Given the description of an element on the screen output the (x, y) to click on. 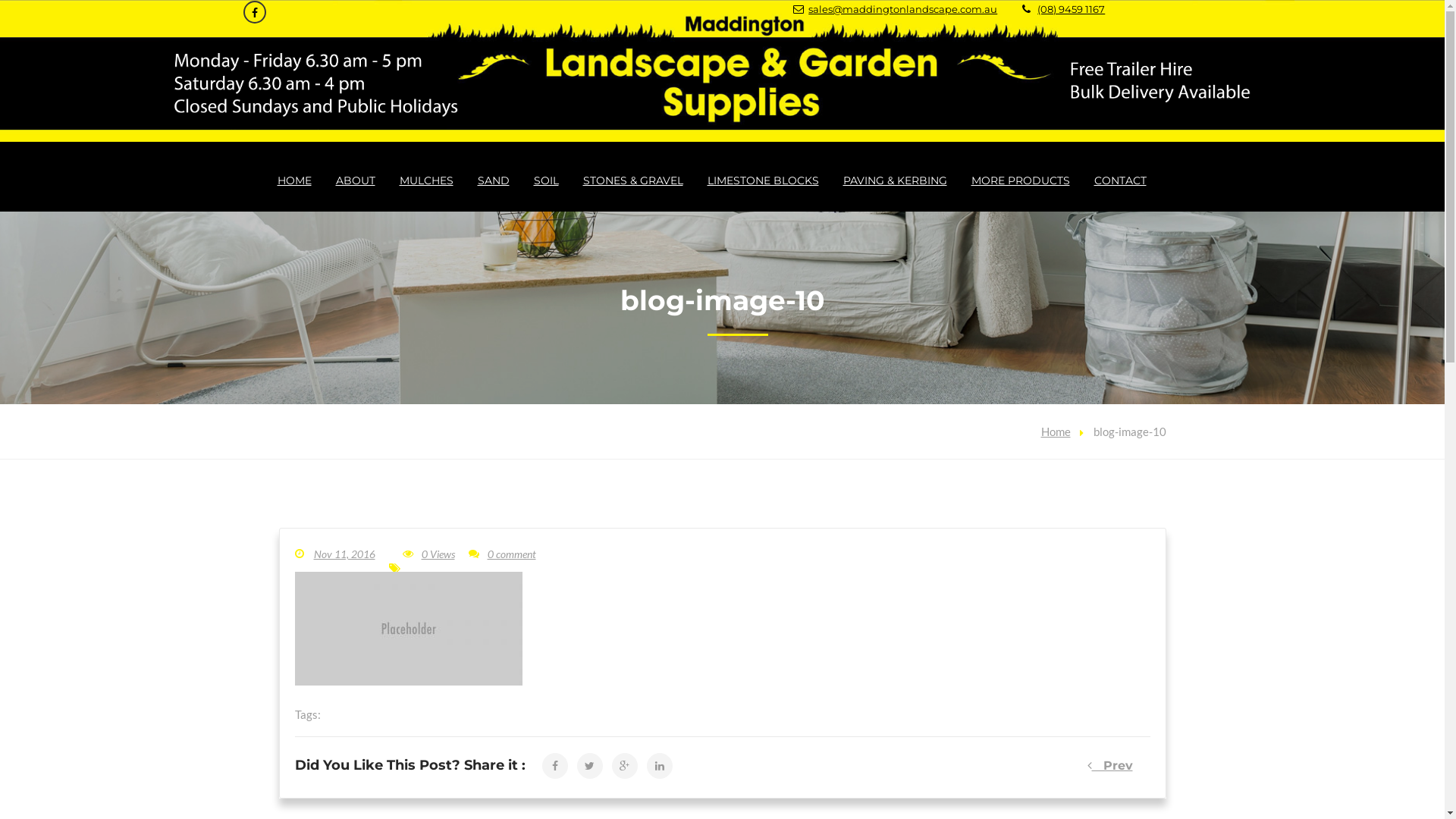
Nov 11, 2016 Element type: text (334, 553)
  Prev Element type: text (1109, 765)
0 comment Element type: text (502, 553)
CONTACT Element type: text (1120, 180)
ABOUT Element type: text (355, 180)
PAVING & KERBING Element type: text (894, 180)
SAND Element type: text (492, 180)
Ecomanic Element type: hover (722, 70)
MULCHES Element type: text (426, 180)
sales@maddingtonlandscape.com.au Element type: text (902, 9)
STONES & GRAVEL Element type: text (633, 180)
SOIL Element type: text (545, 180)
HOME Element type: text (293, 180)
0 Views Element type: text (427, 553)
Home Element type: text (1055, 431)
LIMESTONE BLOCKS Element type: text (762, 180)
(08) 9459 1167 Element type: text (1070, 9)
MORE PRODUCTS Element type: text (1020, 180)
